Given the description of an element on the screen output the (x, y) to click on. 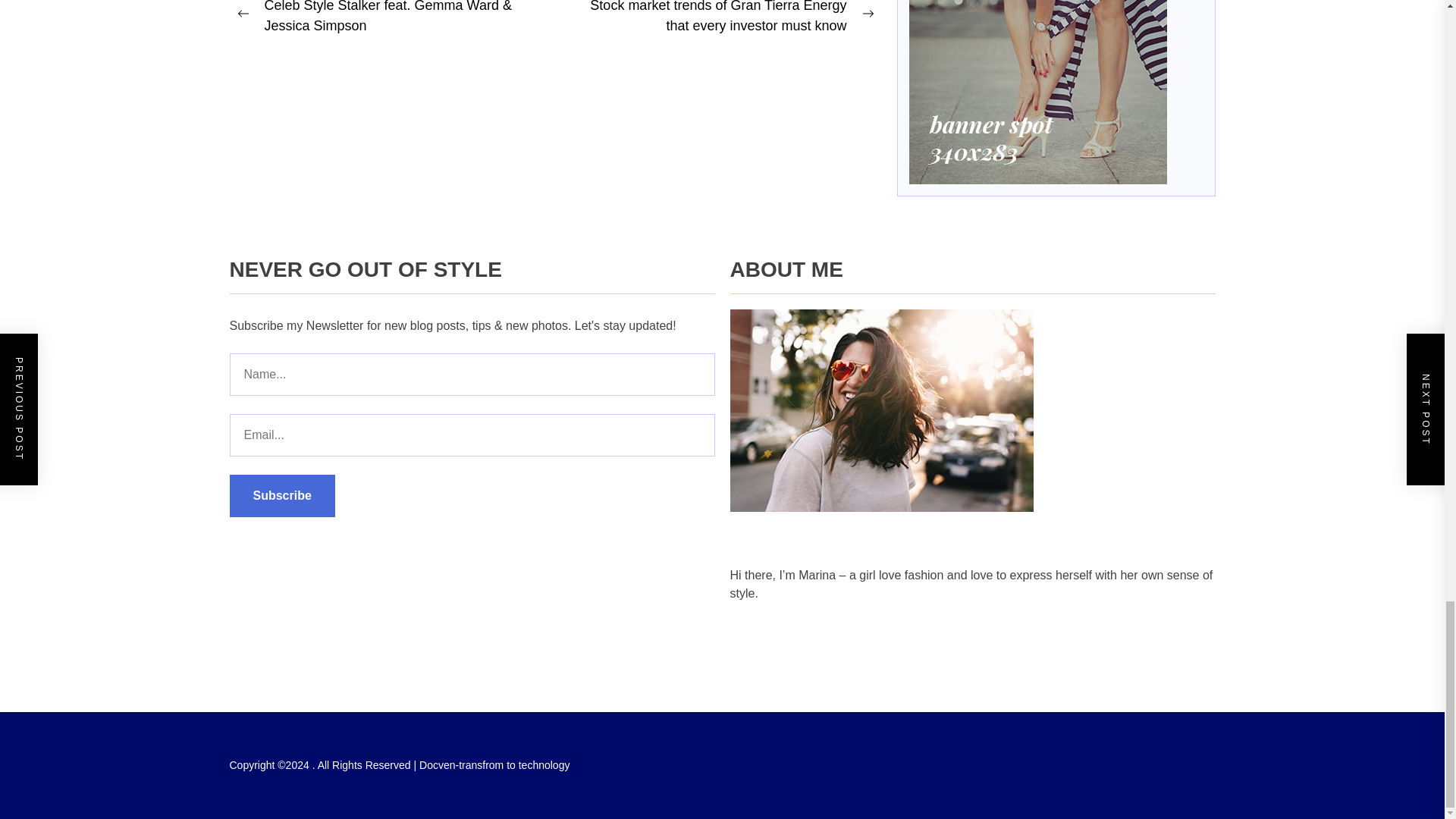
Subscribe (281, 495)
